Given the description of an element on the screen output the (x, y) to click on. 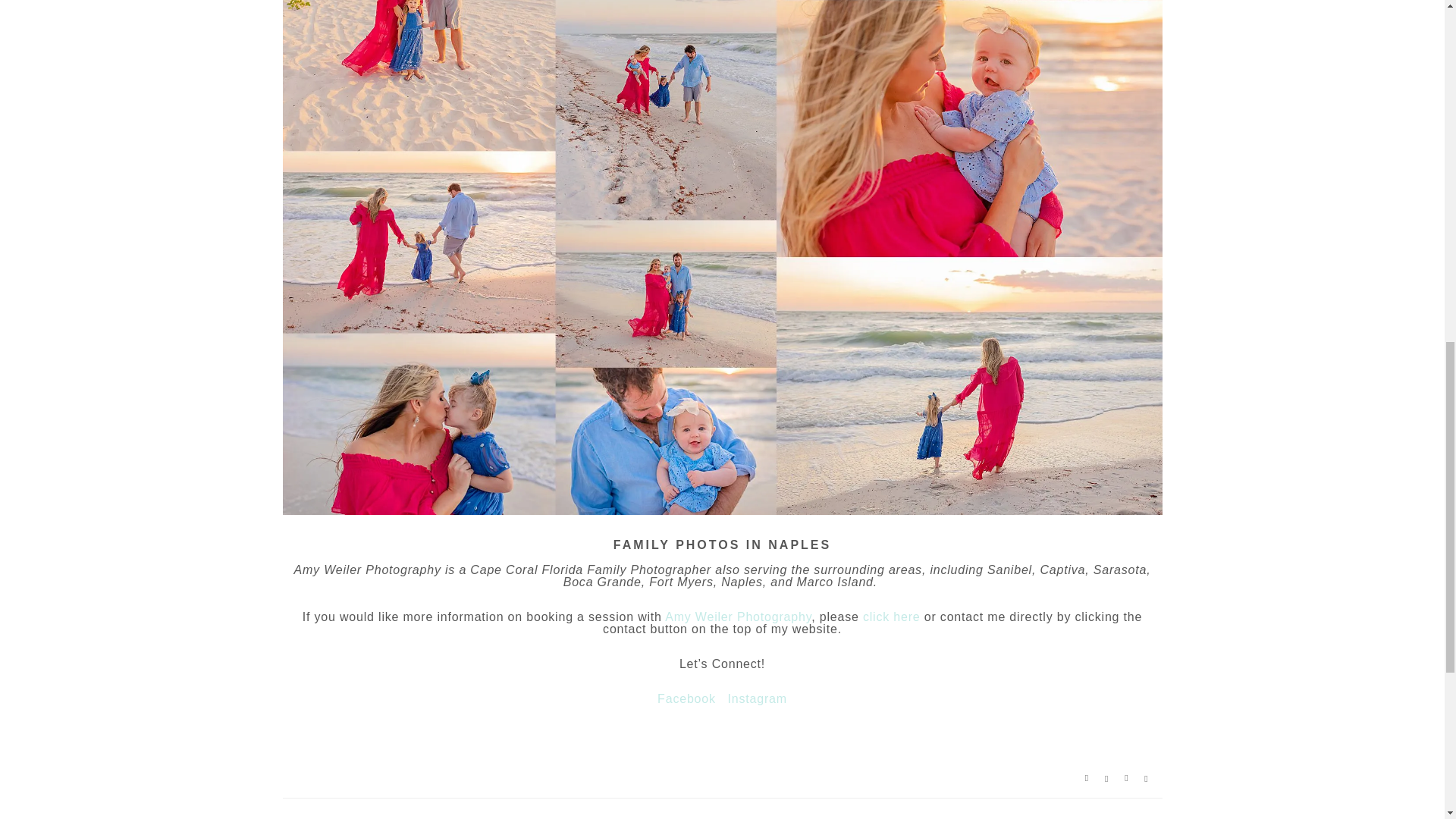
Instagram (757, 698)
Facebook (687, 698)
Amy Weiler Photography (737, 616)
click here (891, 616)
